Given the description of an element on the screen output the (x, y) to click on. 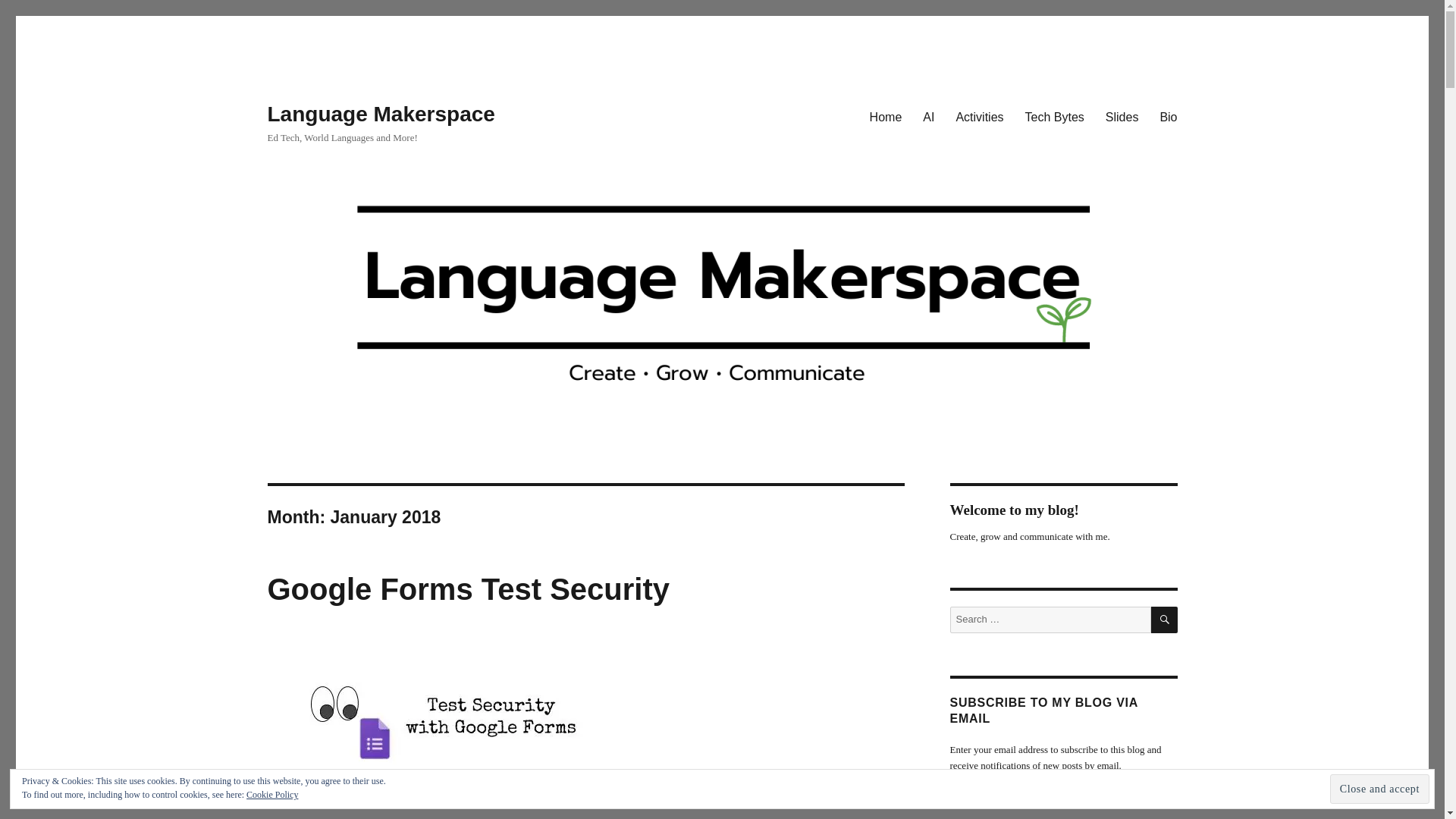
Tech Bytes (1054, 116)
AI (928, 116)
Activities (978, 116)
Google Forms Test Security (467, 589)
Close and accept (1379, 788)
Home (885, 116)
Slides (1122, 116)
Bio (1168, 116)
Language Makerspace (380, 114)
